Given the description of an element on the screen output the (x, y) to click on. 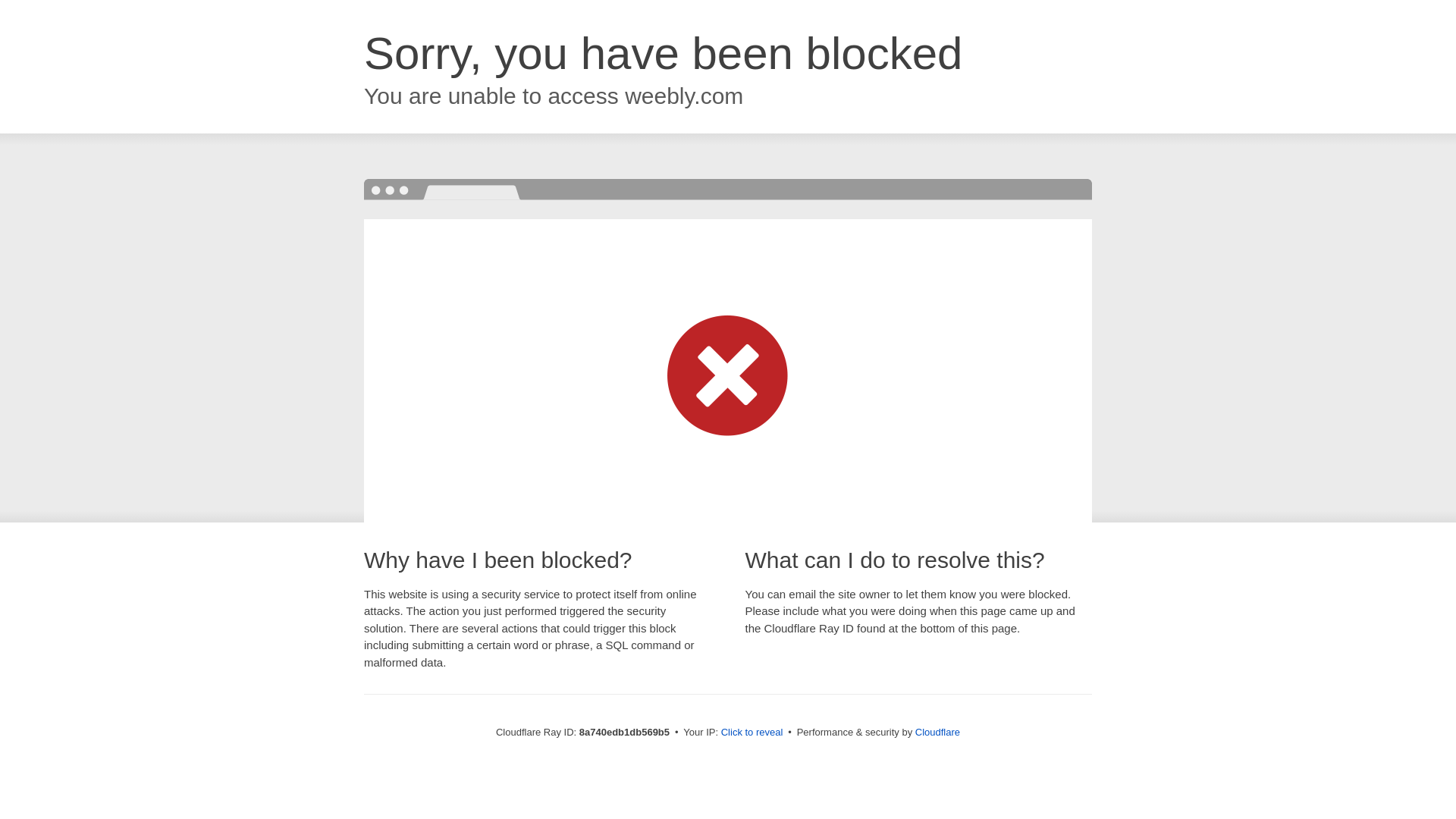
Click to reveal (751, 732)
Cloudflare (937, 731)
